Given the description of an element on the screen output the (x, y) to click on. 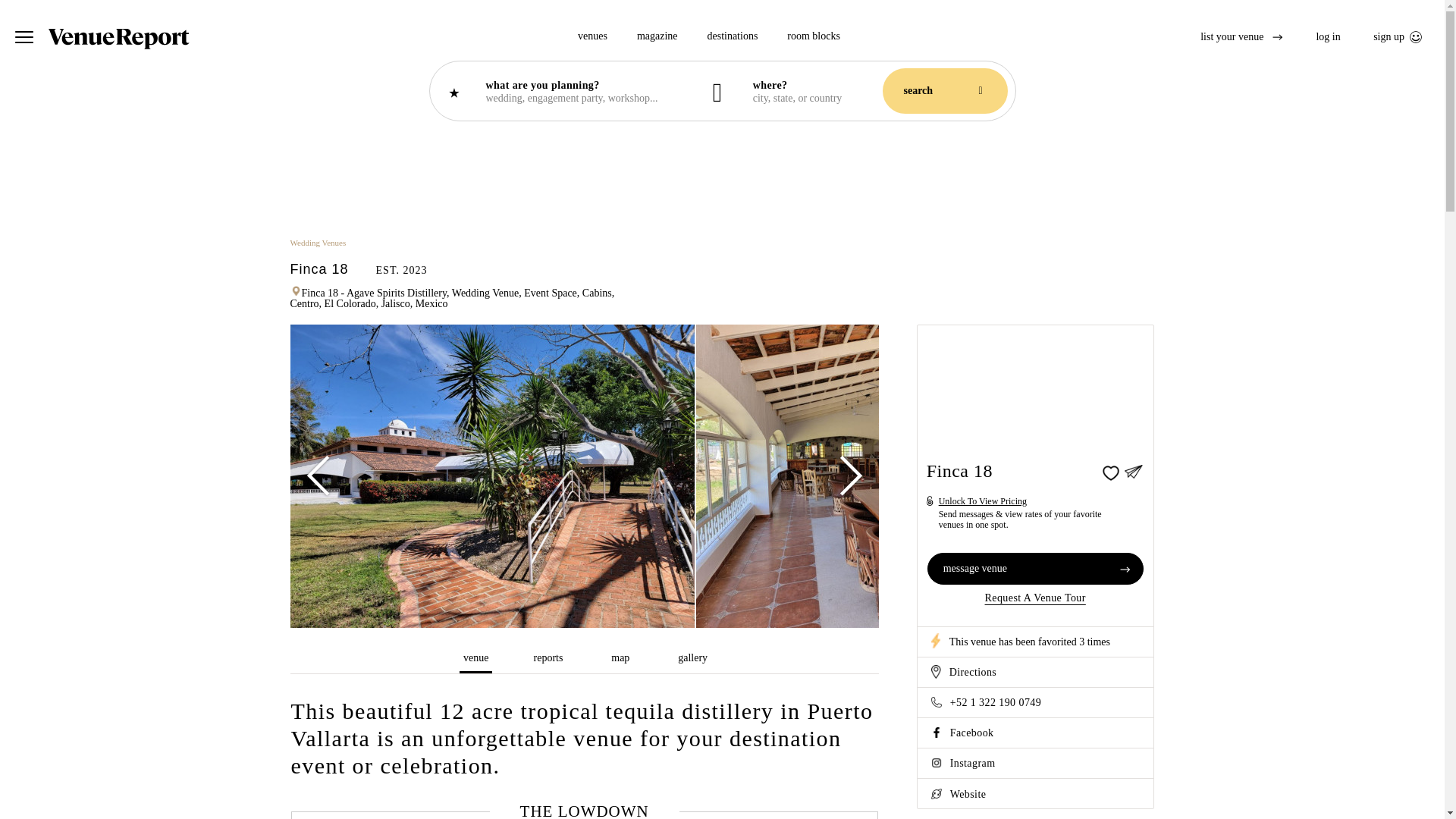
destinations (731, 37)
list your venue  (1240, 36)
magazine (657, 37)
Share (1133, 470)
3rd party ad content (721, 185)
log in (1327, 36)
Add to Favorites (1109, 470)
sign up   (1397, 36)
search (944, 90)
venues (592, 37)
room blocks (813, 37)
